Given the description of an element on the screen output the (x, y) to click on. 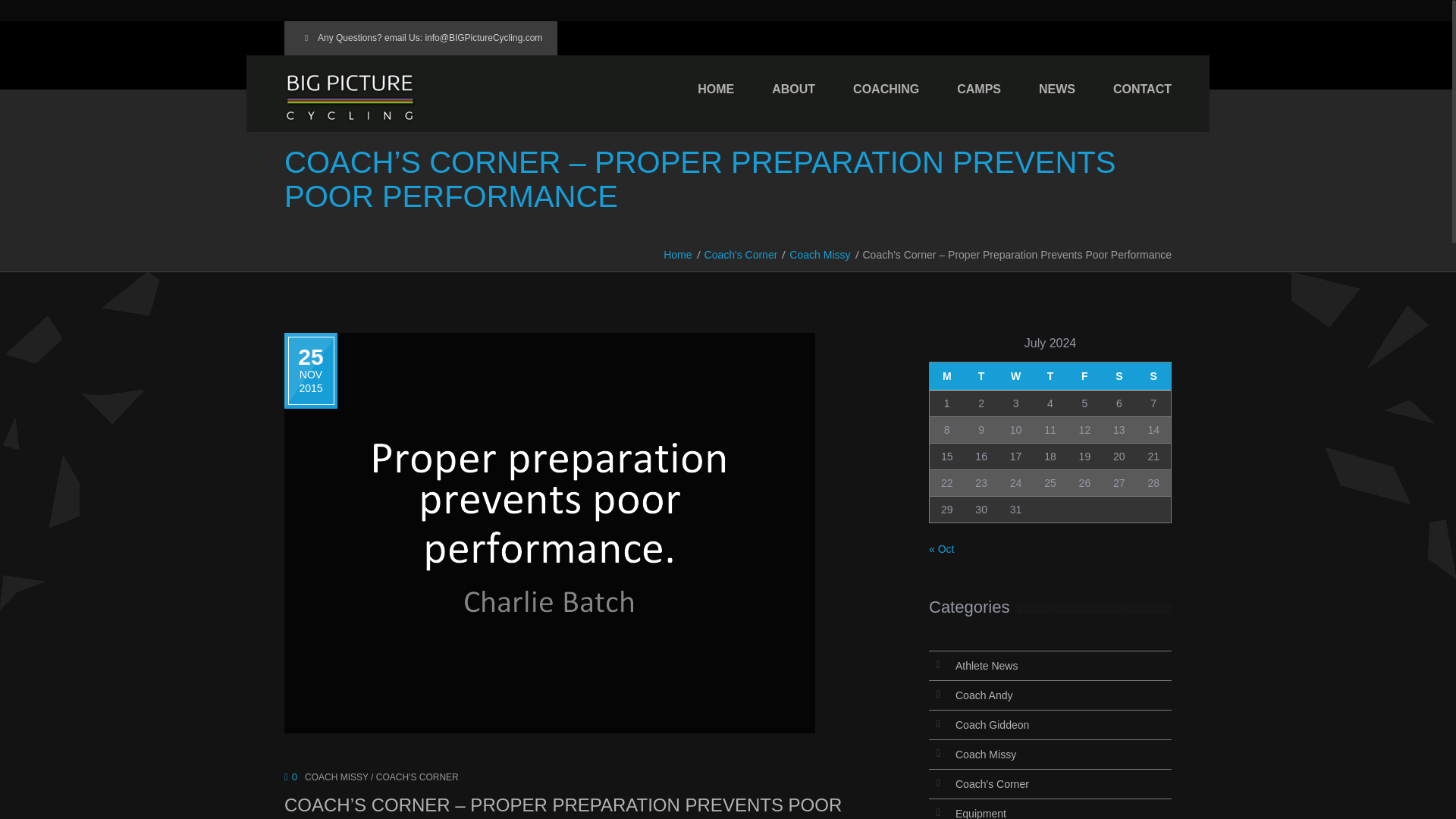
Big Picture Cycling (349, 97)
Coach's Corner (740, 254)
0 (290, 776)
COACH MISSY (336, 777)
Coach Missy (819, 254)
Home (677, 254)
COACH'S CORNER (416, 777)
COACHING (885, 89)
